Given the description of an element on the screen output the (x, y) to click on. 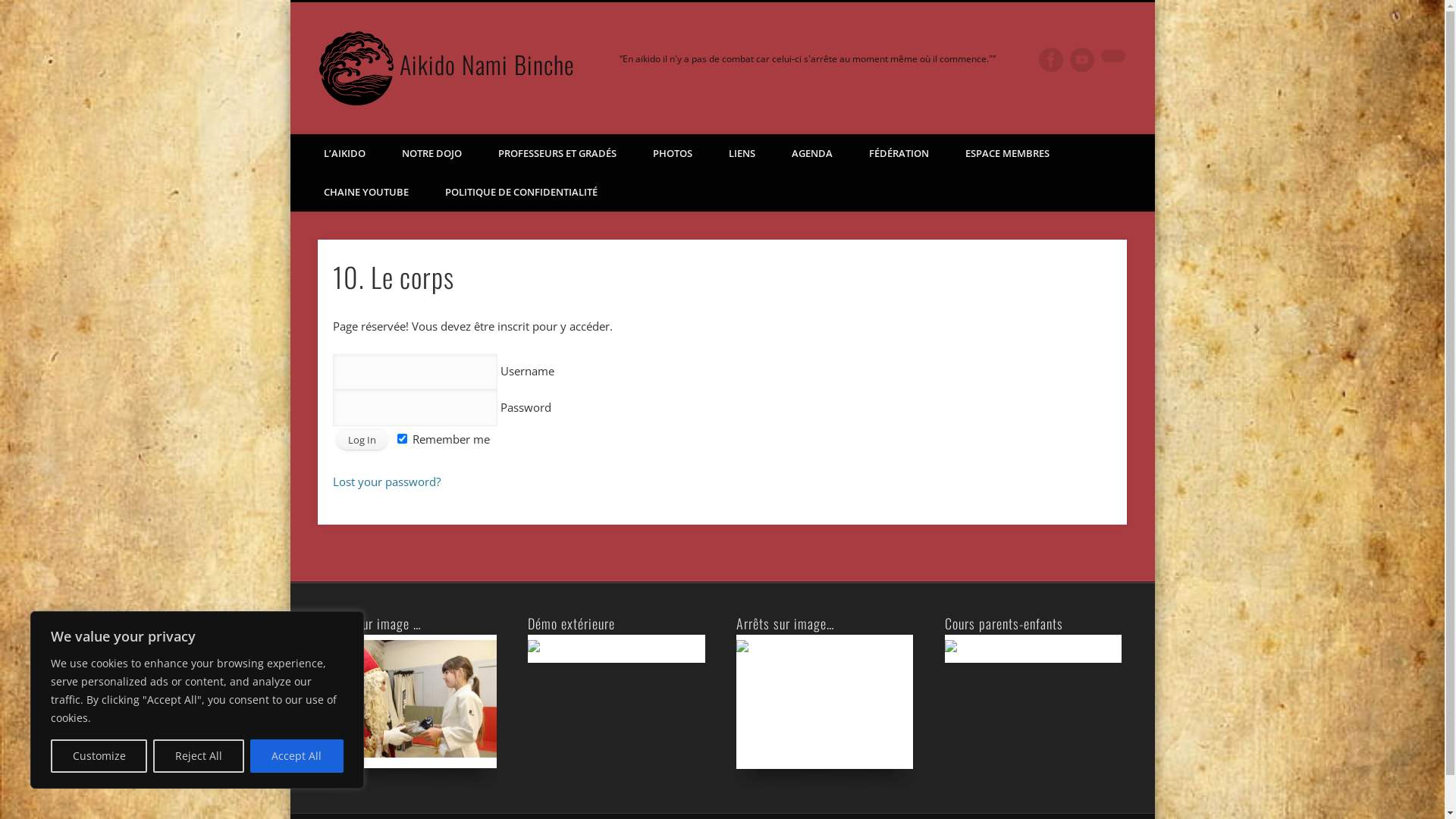
Aikido Nami Binche Element type: text (486, 63)
Log In Element type: text (361, 439)
PHOTOS Element type: text (671, 153)
CHAINE YOUTUBE Element type: text (365, 191)
LIENS Element type: text (740, 153)
Customize Element type: text (98, 755)
Accept All Element type: text (296, 755)
Search Element type: text (11, 9)
ESPACE MEMBRES Element type: text (1006, 153)
NOTRE DOJO Element type: text (431, 153)
Facebook Element type: text (1050, 59)
Vimeo Element type: text (1082, 59)
Reject All Element type: text (198, 755)
Lost your password? Element type: text (386, 481)
AGENDA Element type: text (811, 153)
